Given the description of an element on the screen output the (x, y) to click on. 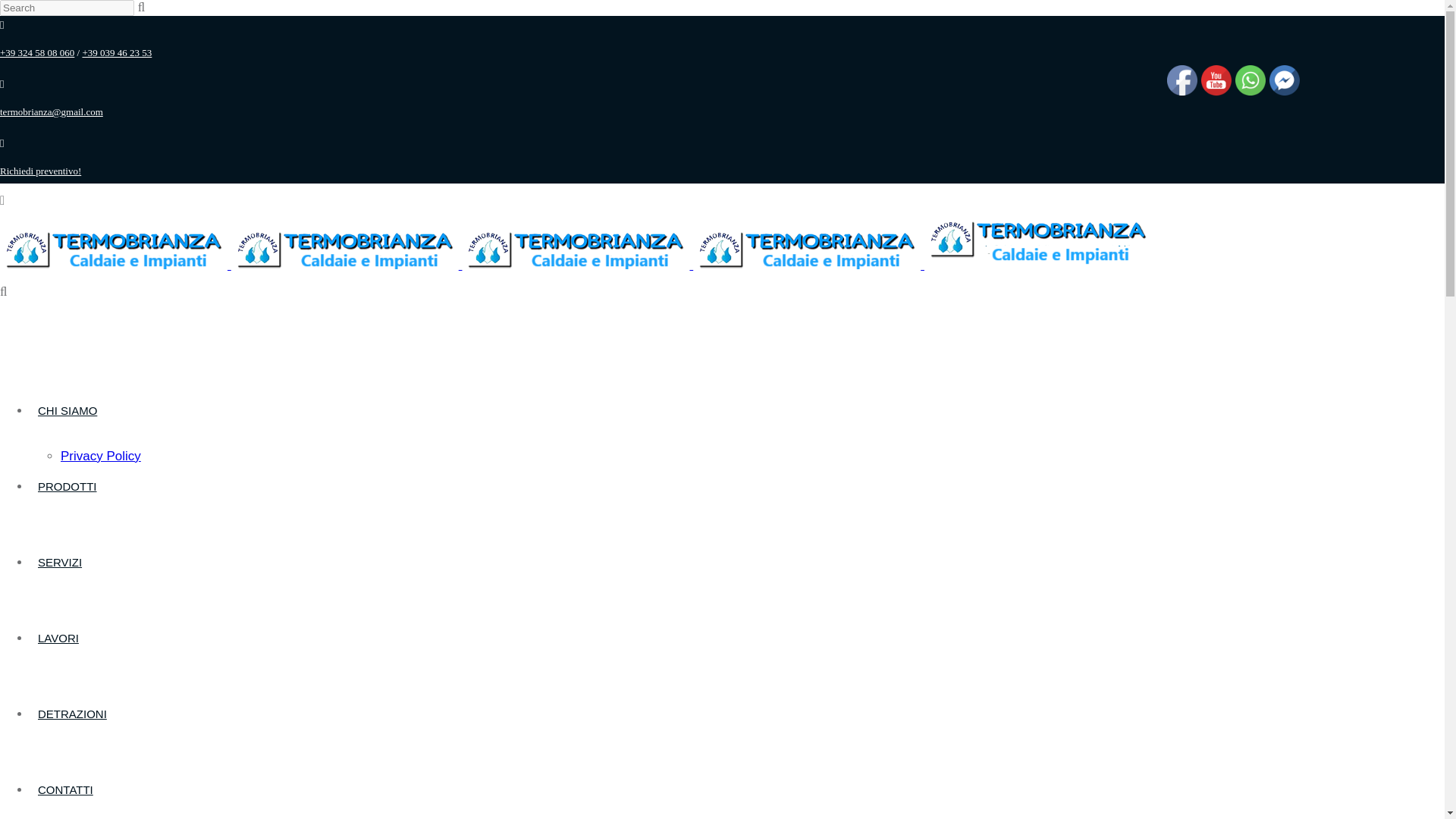
Facebook (1181, 80)
PRODOTTI (67, 486)
CHI SIAMO (67, 410)
CONTATTI (65, 789)
DETRAZIONI (72, 713)
Privacy Policy (101, 455)
Youtube (1216, 80)
SERVIZI (59, 562)
Messenger (1284, 80)
LAVORI (57, 637)
WhatsApp (1249, 80)
Richiedi preventivo! (40, 170)
